Given the description of an element on the screen output the (x, y) to click on. 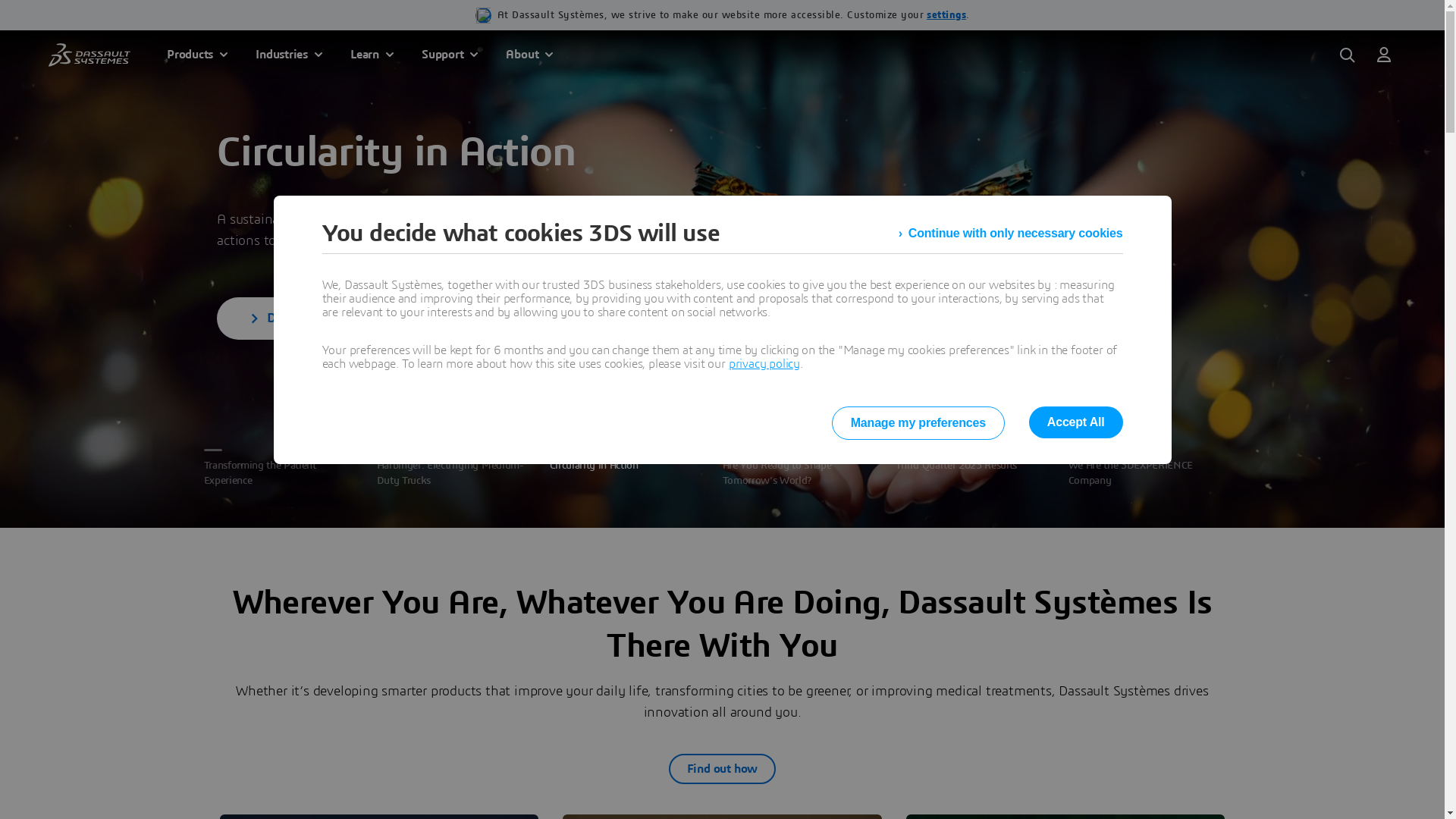
Read more Element type: text (288, 366)
privacy policy Element type: text (764, 363)
Manage my preferences Element type: text (917, 422)
Find out how Element type: text (722, 768)
Continue with only necessary cookies Element type: text (1010, 233)
Accept All Element type: text (1076, 422)
